Given the description of an element on the screen output the (x, y) to click on. 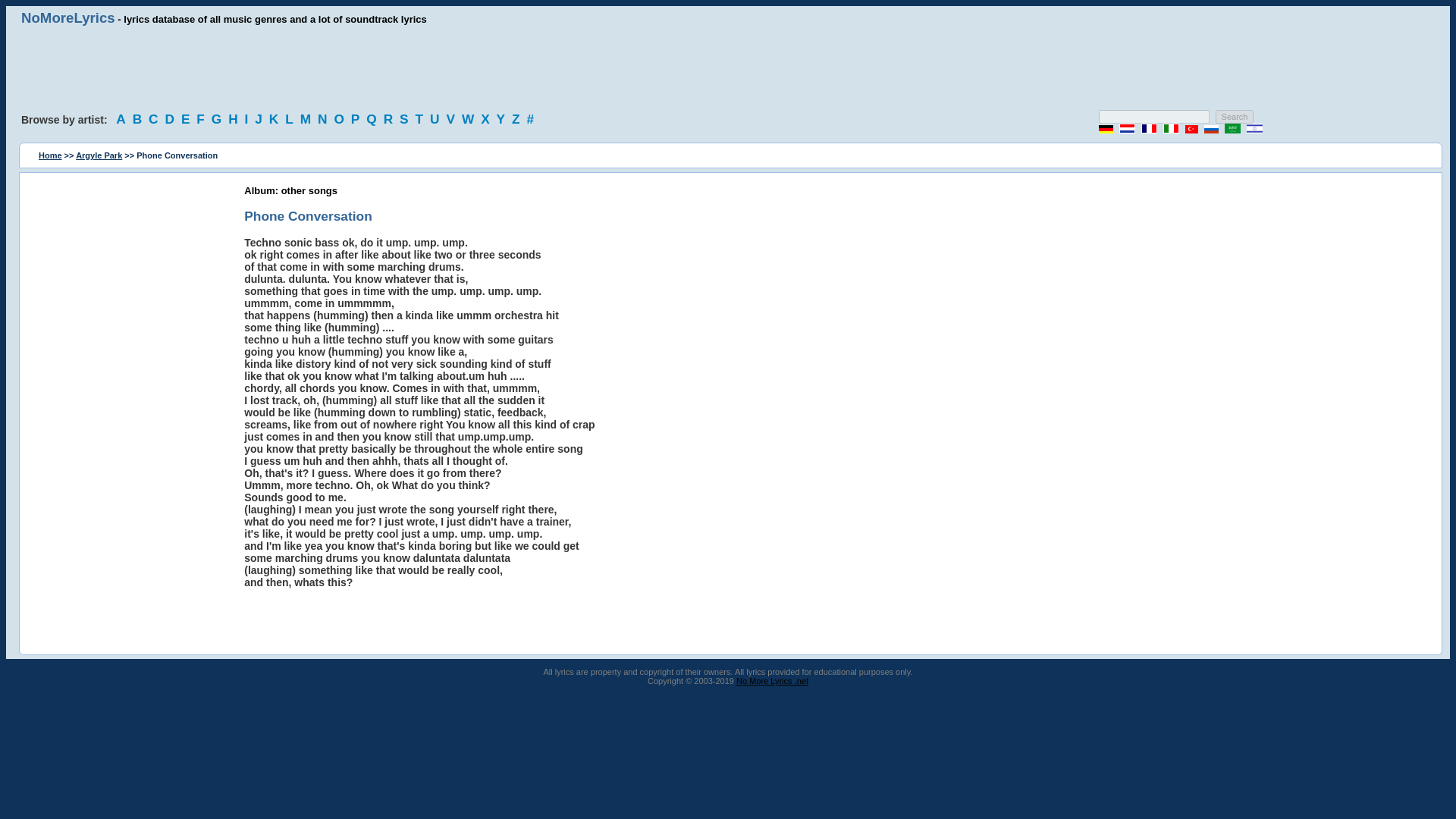
Song lyrics and soundtrack lyrics, starting with A (122, 118)
Song lyrics and soundtrack lyrics, starting with N (324, 118)
Song lyrics and soundtrack lyrics, starting with Q (373, 118)
Search (1234, 116)
Song lyrics and soundtrack lyrics, starting with K (275, 118)
G (218, 118)
Song lyrics and soundtrack lyrics, starting with O (340, 118)
Argyle Park (98, 154)
Home (50, 154)
NoMoreLyrics (68, 17)
Song lyrics and soundtrack lyrics, starting with B (139, 118)
C (154, 118)
O (340, 118)
B (139, 118)
Song lyrics and soundtrack lyrics, starting with D (170, 118)
